Given the description of an element on the screen output the (x, y) to click on. 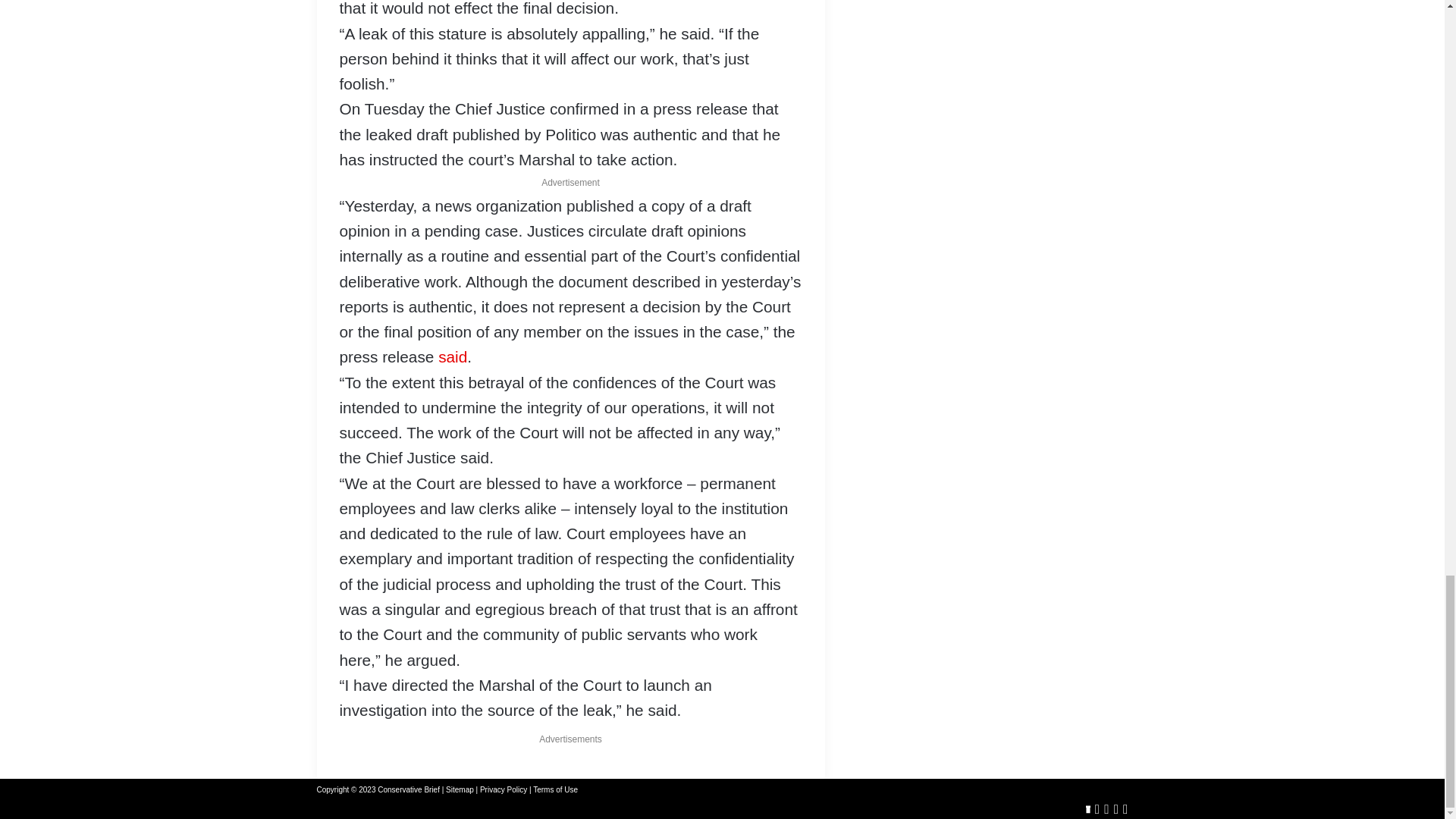
Conservative Brief (408, 789)
Privacy Policy (503, 789)
Sitemap (459, 789)
said (452, 356)
Terms of Use (555, 789)
